Given the description of an element on the screen output the (x, y) to click on. 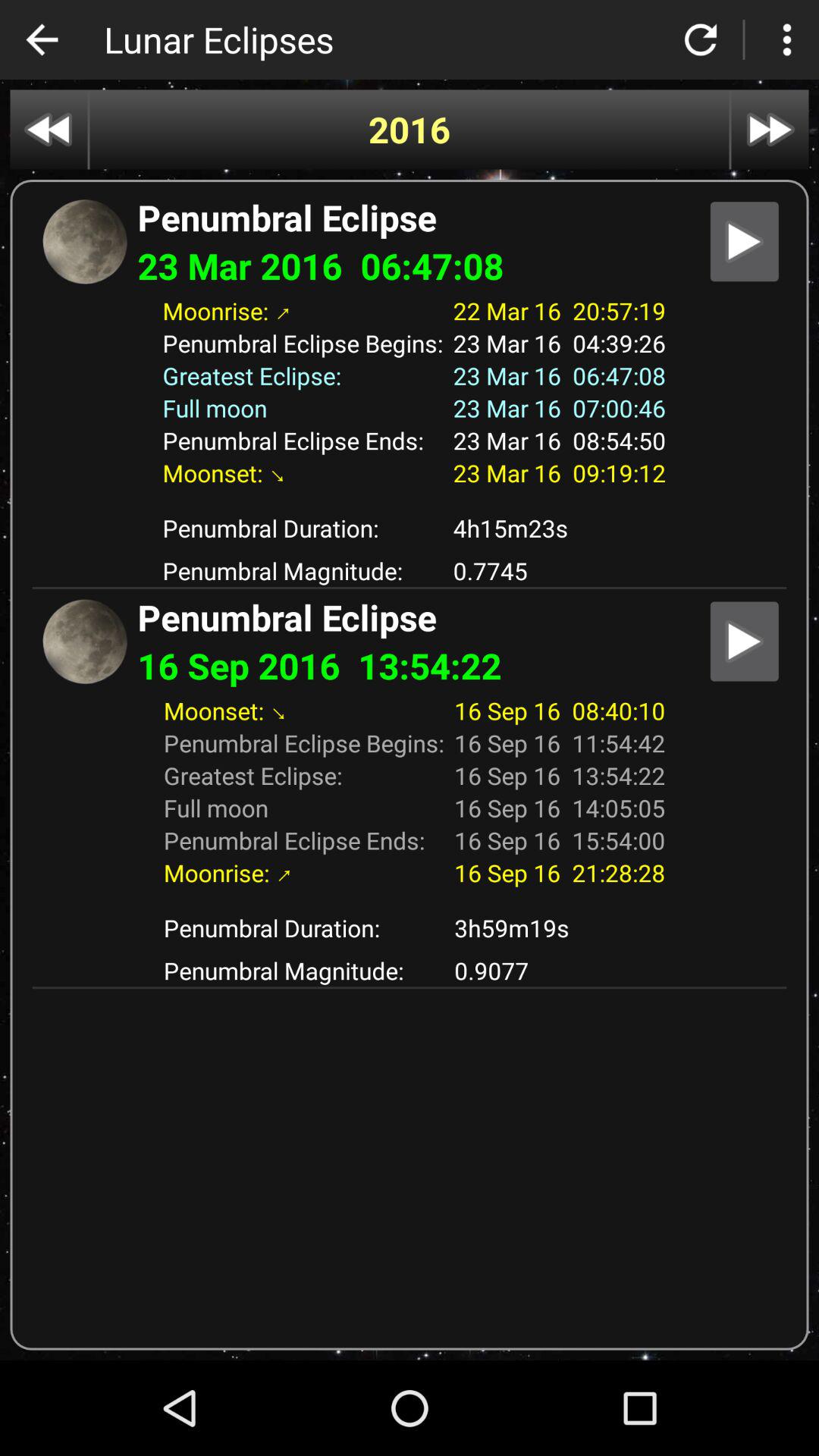
play option (744, 641)
